Given the description of an element on the screen output the (x, y) to click on. 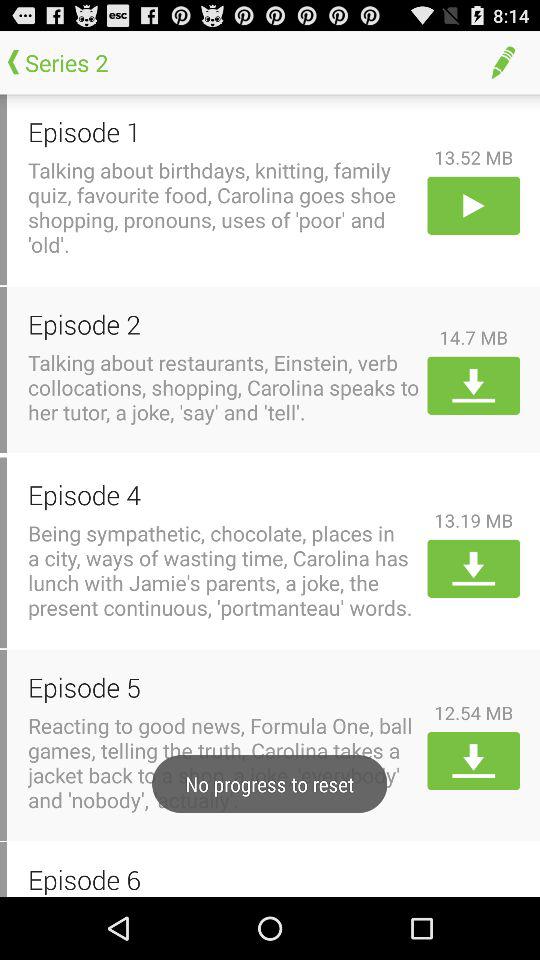
tap item to the left of the 13.52 mb item (224, 131)
